Given the description of an element on the screen output the (x, y) to click on. 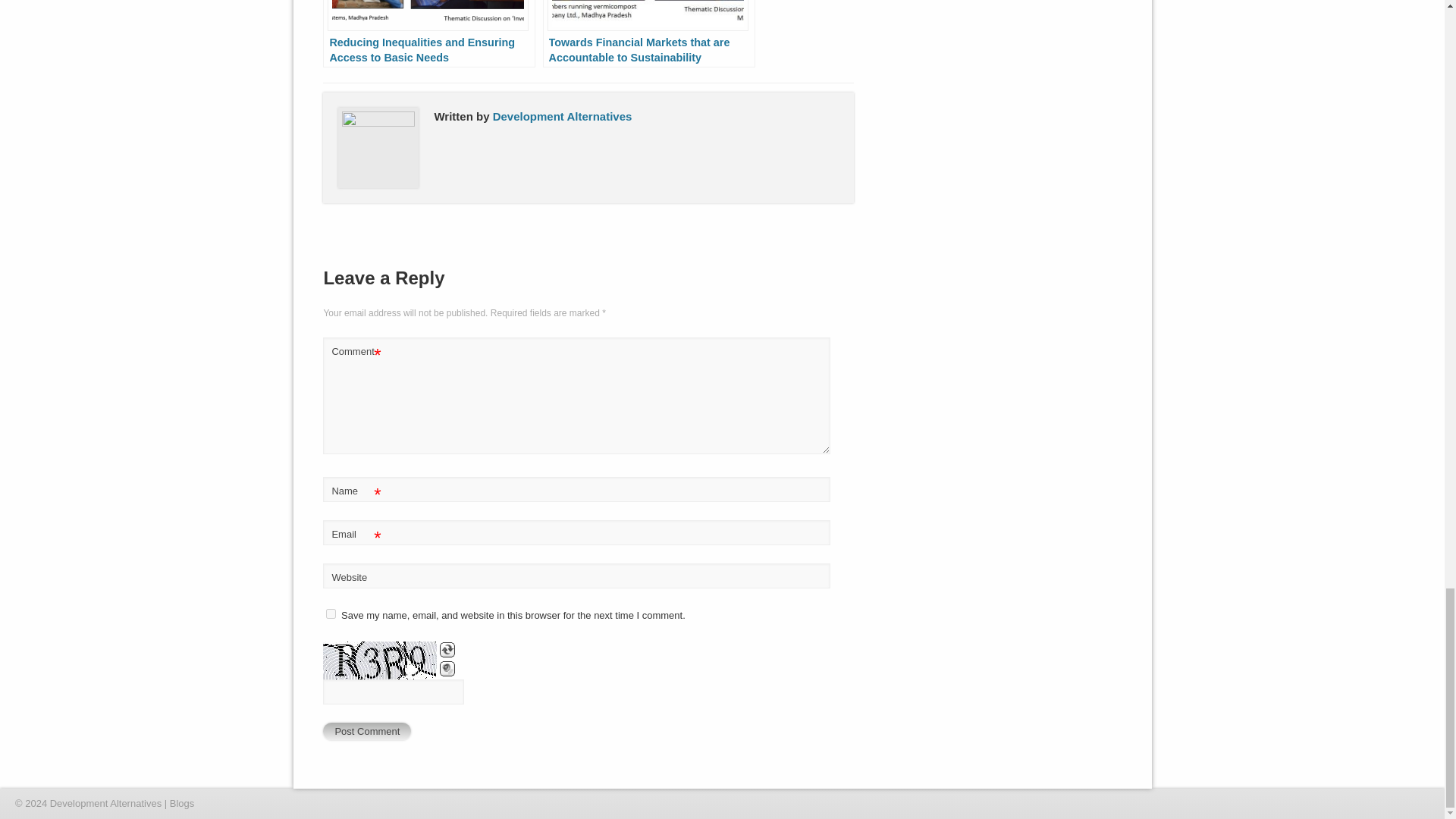
Post Comment (366, 731)
Reducing Inequalities and Ensuring Access to Basic Needs (429, 33)
Change the CAPTCHA code (446, 649)
Speak the CAPTCHA code (446, 668)
Development Alternatives (562, 115)
BotDetect WP CAPTCHA (379, 660)
Reducing Inequalities and Ensuring Access to Basic Needs (429, 33)
Post Comment (366, 731)
yes (331, 614)
Posts by Development Alternatives (562, 115)
